Given the description of an element on the screen output the (x, y) to click on. 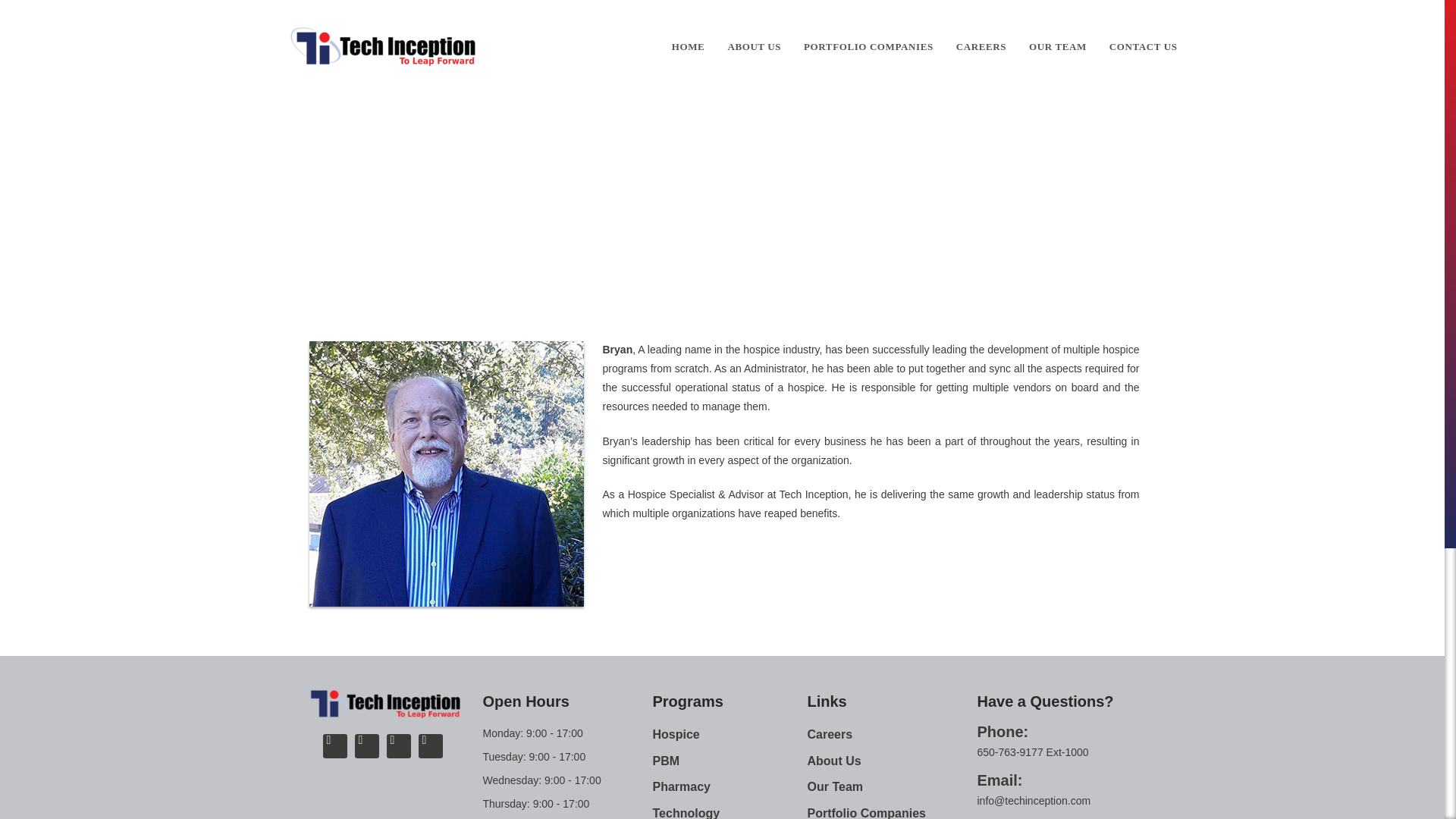
PBM (729, 762)
Our Team (891, 787)
ABOUT US (754, 46)
Technology (729, 811)
CONTACT US (1143, 46)
OUR TEAM (1057, 46)
Our Team (652, 181)
Pharmacy (729, 787)
CAREERS (980, 46)
About Us (891, 762)
